Given the description of an element on the screen output the (x, y) to click on. 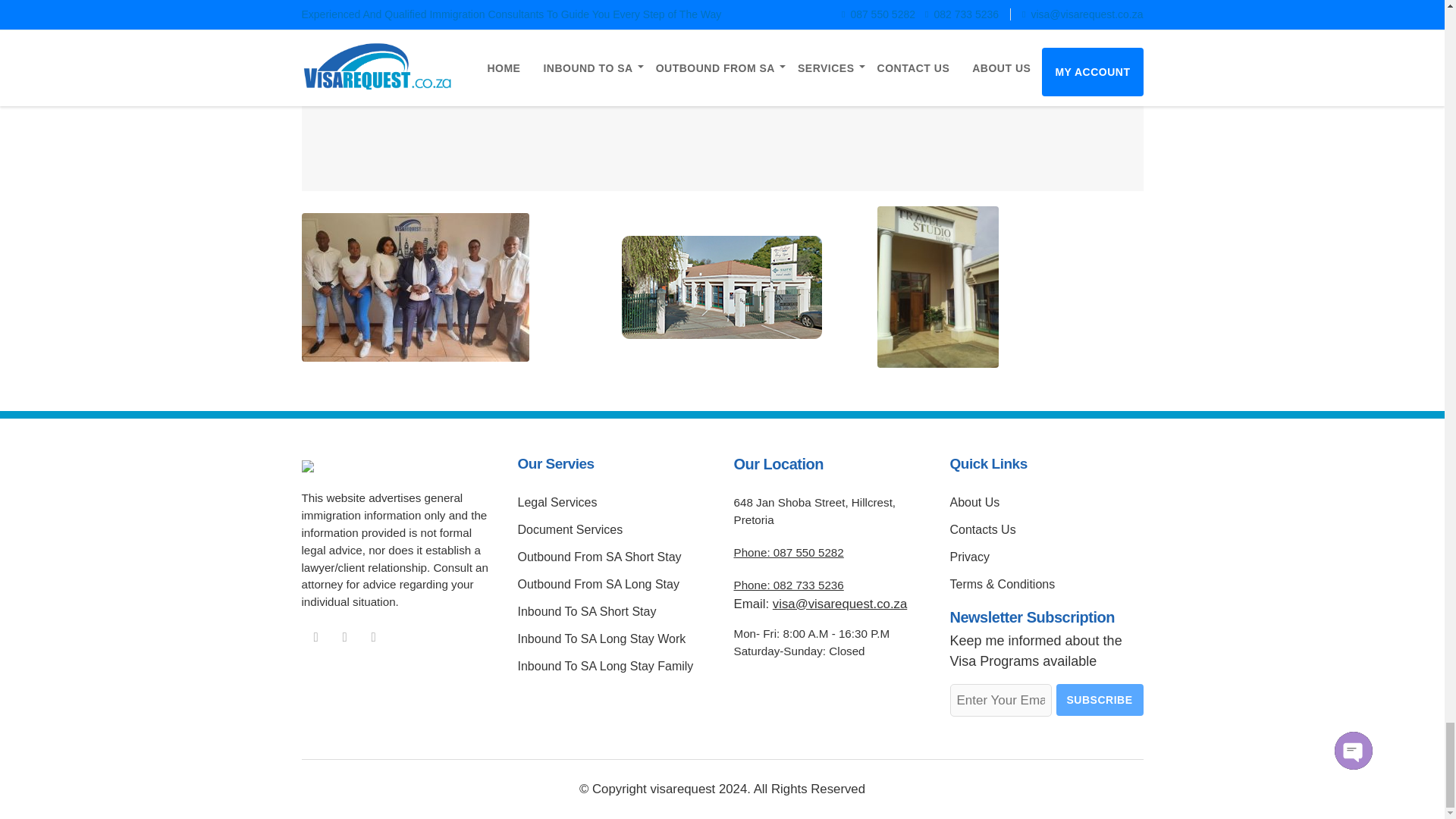
Linkedin (344, 637)
Twitter (373, 637)
buliding (721, 287)
Facebook (315, 637)
